Given the description of an element on the screen output the (x, y) to click on. 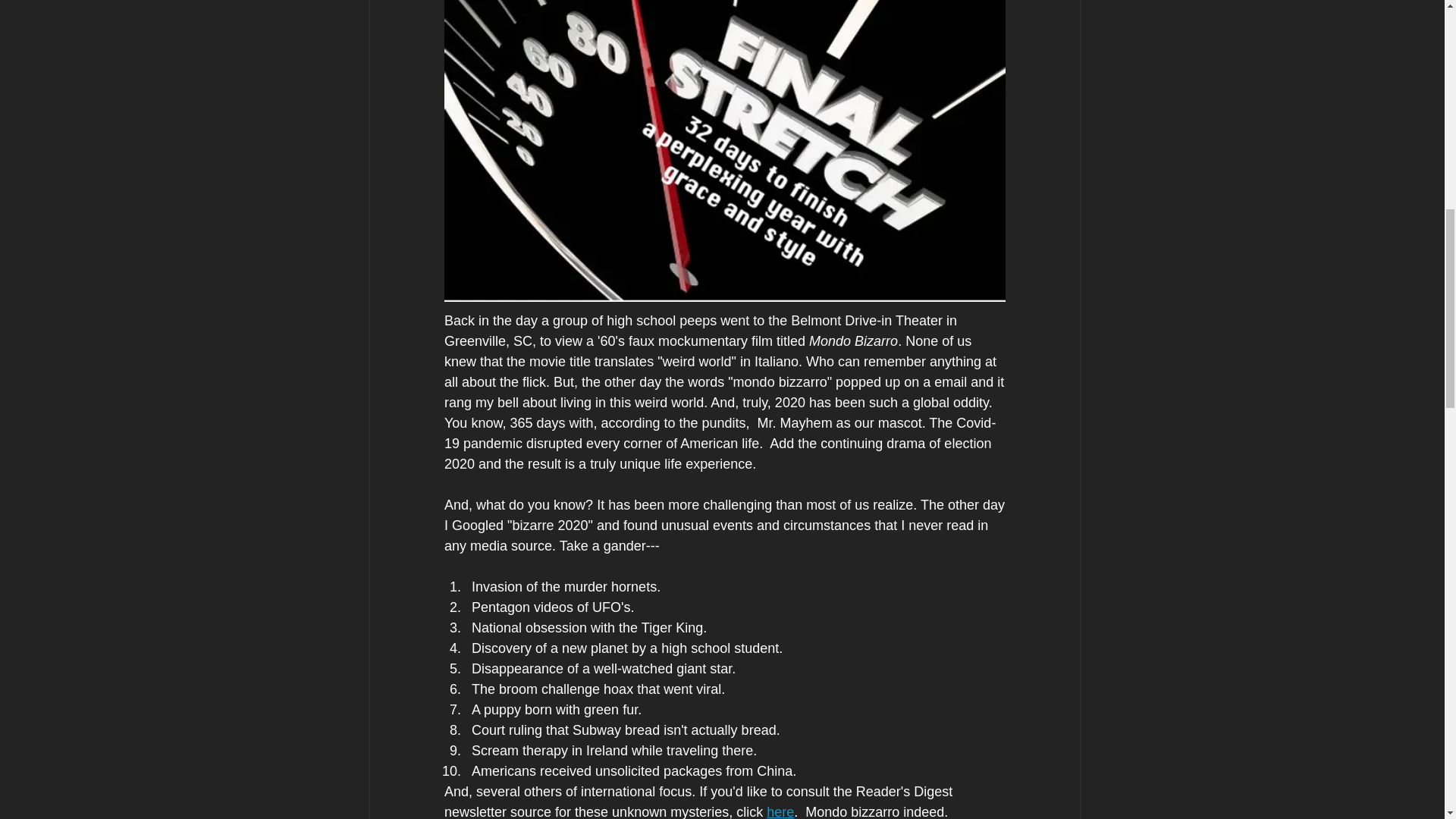
here (780, 811)
